Given the description of an element on the screen output the (x, y) to click on. 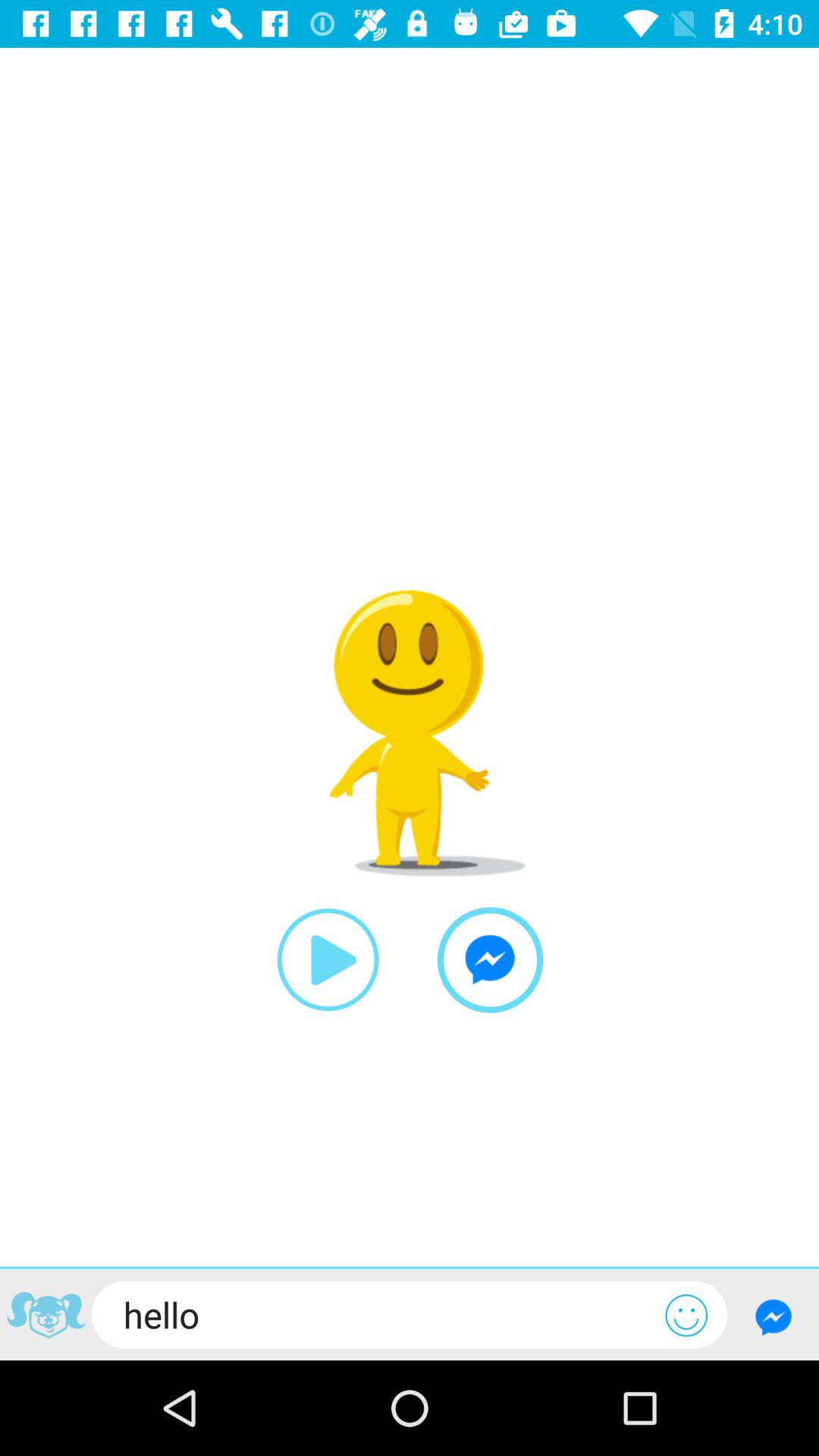
choose the hello (378, 1314)
